Given the description of an element on the screen output the (x, y) to click on. 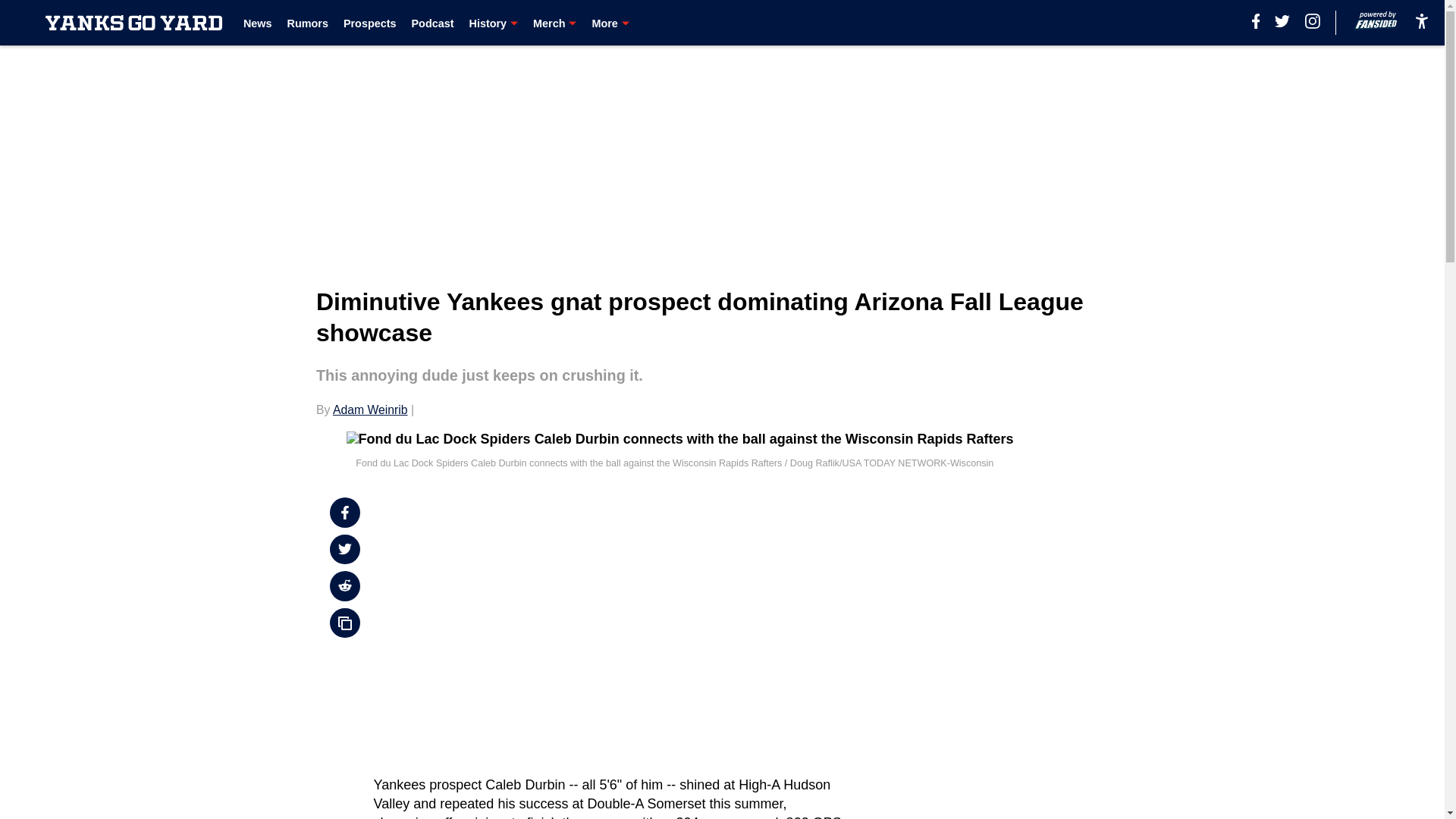
Adam Weinrib (370, 409)
Podcast (431, 23)
Rumors (307, 23)
Prospects (369, 23)
News (257, 23)
